Given the description of an element on the screen output the (x, y) to click on. 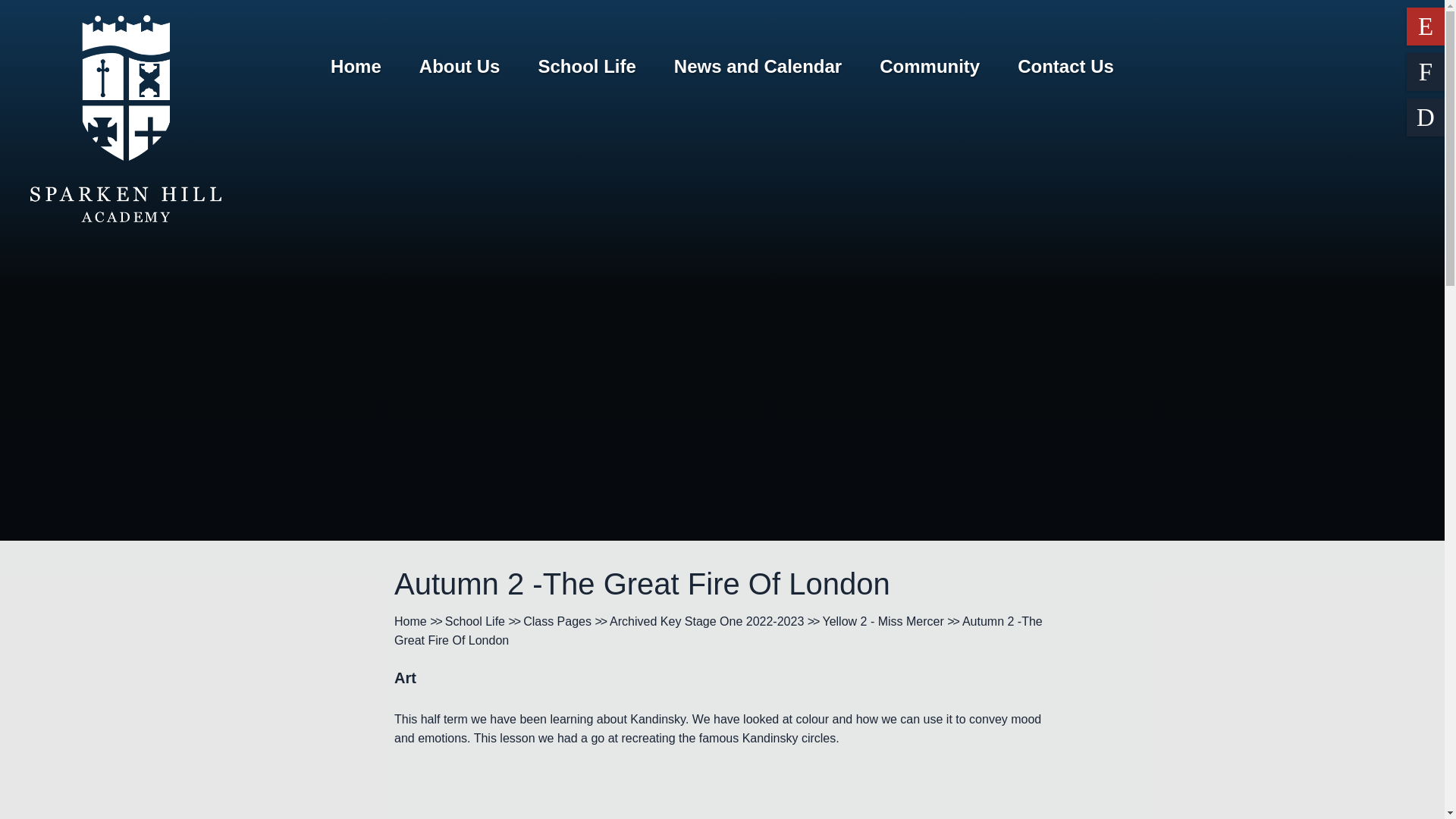
Home Page (125, 118)
About Us (459, 66)
Home (355, 66)
